Given the description of an element on the screen output the (x, y) to click on. 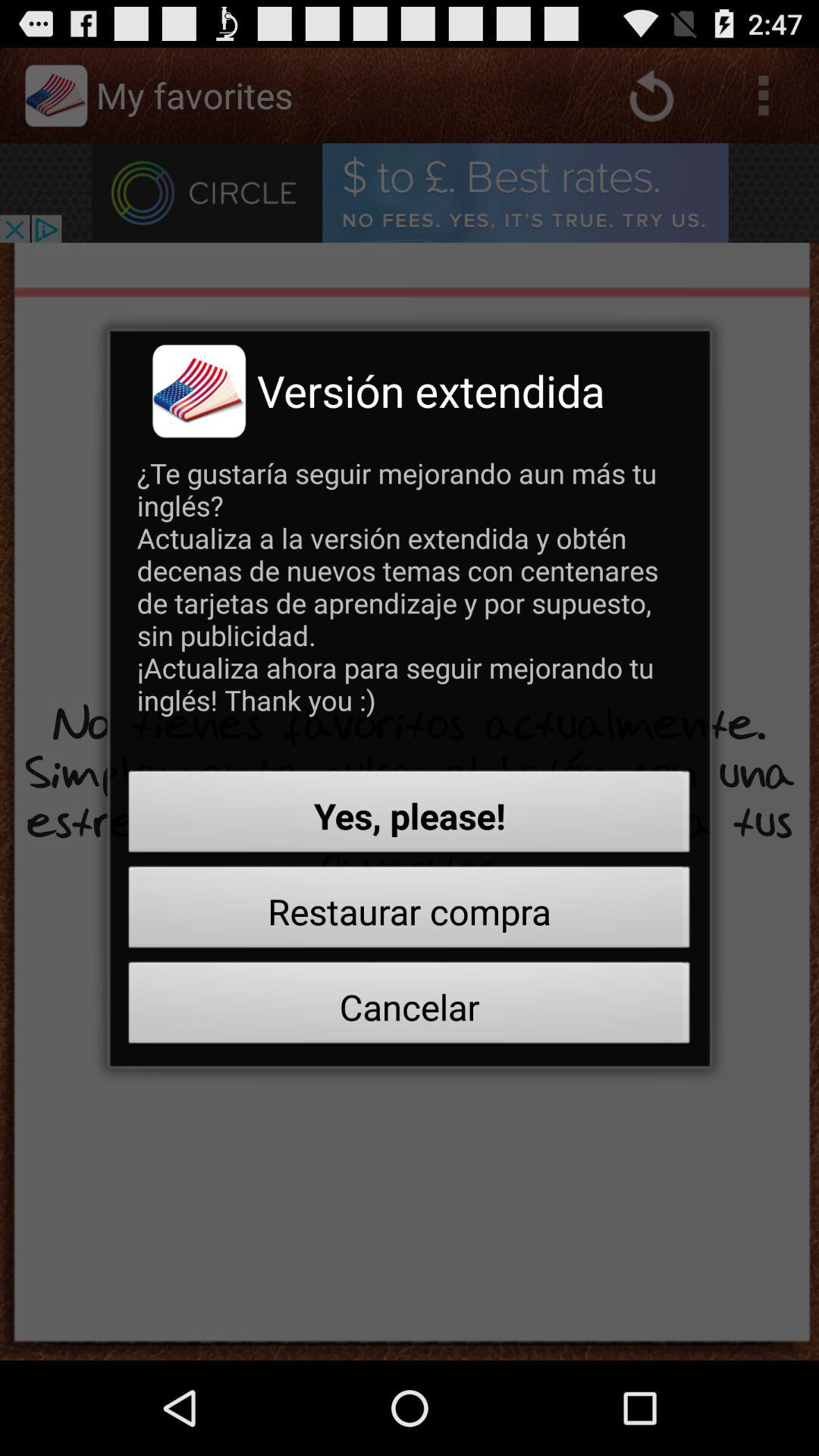
open item below yes, please! (409, 911)
